Given the description of an element on the screen output the (x, y) to click on. 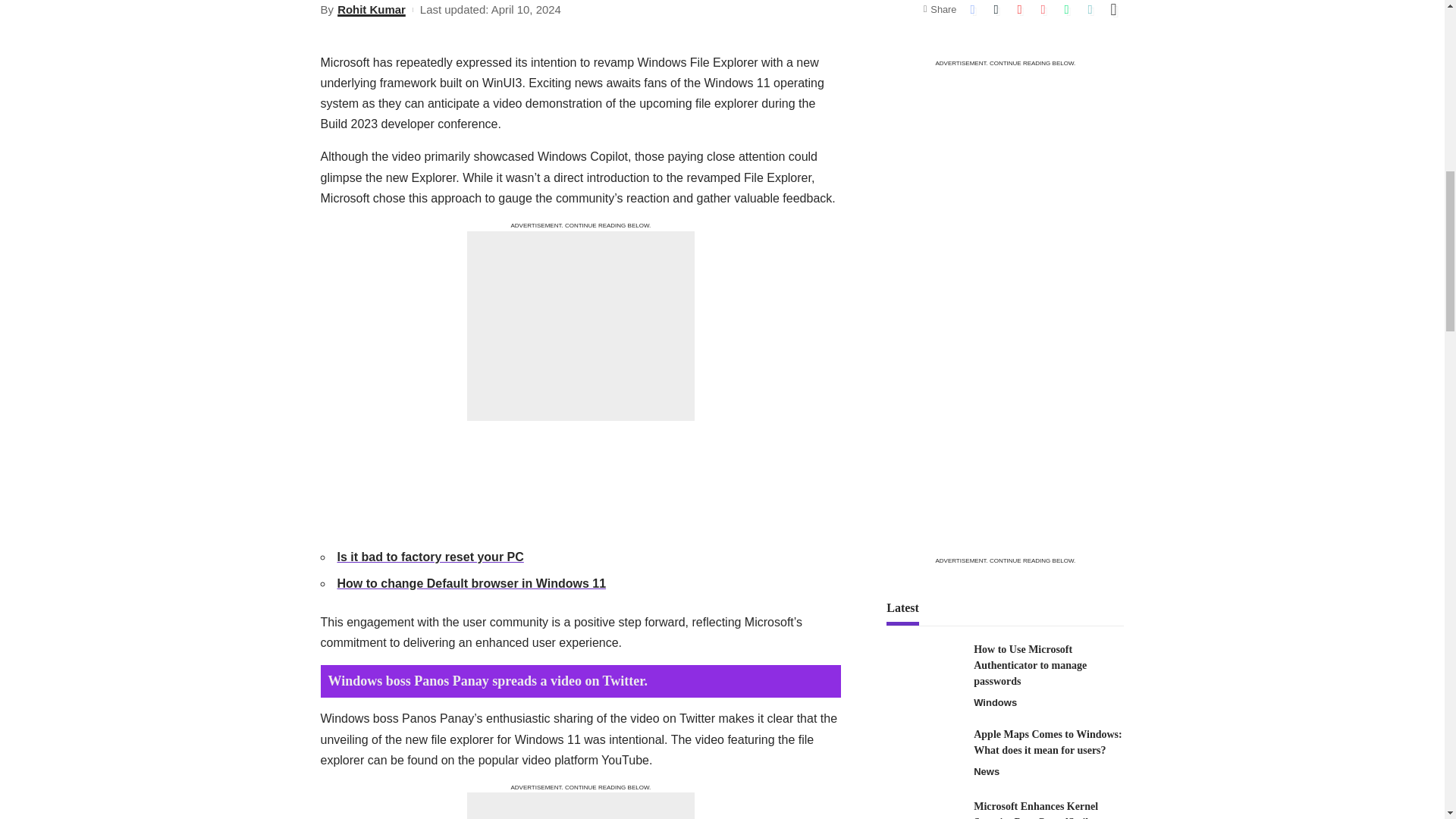
Microsoft Enhances Kernel Security Post-CrowdStrike (924, 808)
Apple Maps Comes to Windows: What does it mean for users? (924, 754)
How to Use Microsoft Authenticator to manage passwords (924, 669)
